Given the description of an element on the screen output the (x, y) to click on. 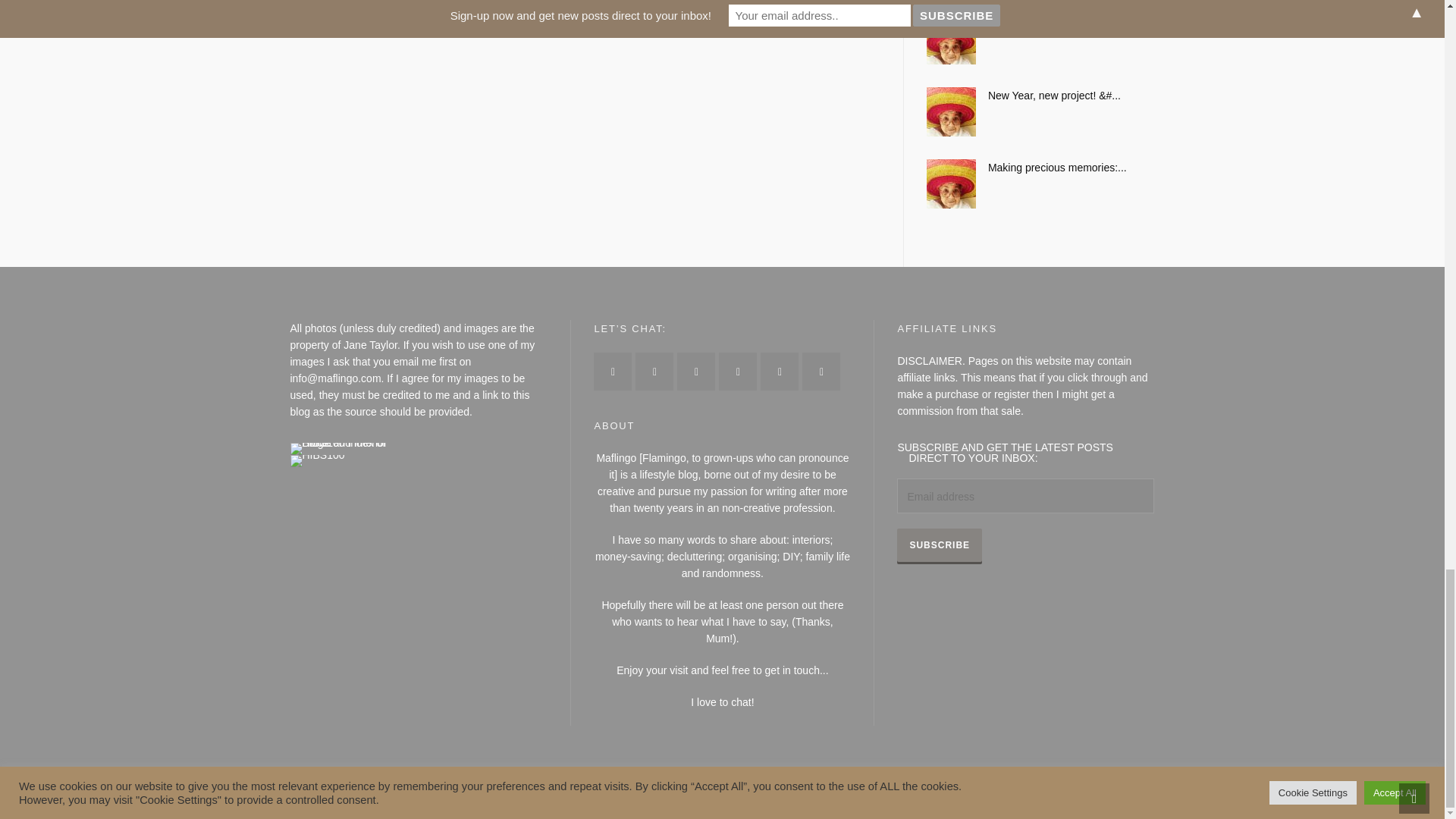
HIBS100 Index of Home and Interior Blogs (351, 448)
Subscribe (938, 544)
Making precious memories: How to make a cushion using ties. (1040, 167)
Easy step-by-step sewing tutorial: How to make a snap purse. (1040, 23)
